Given the description of an element on the screen output the (x, y) to click on. 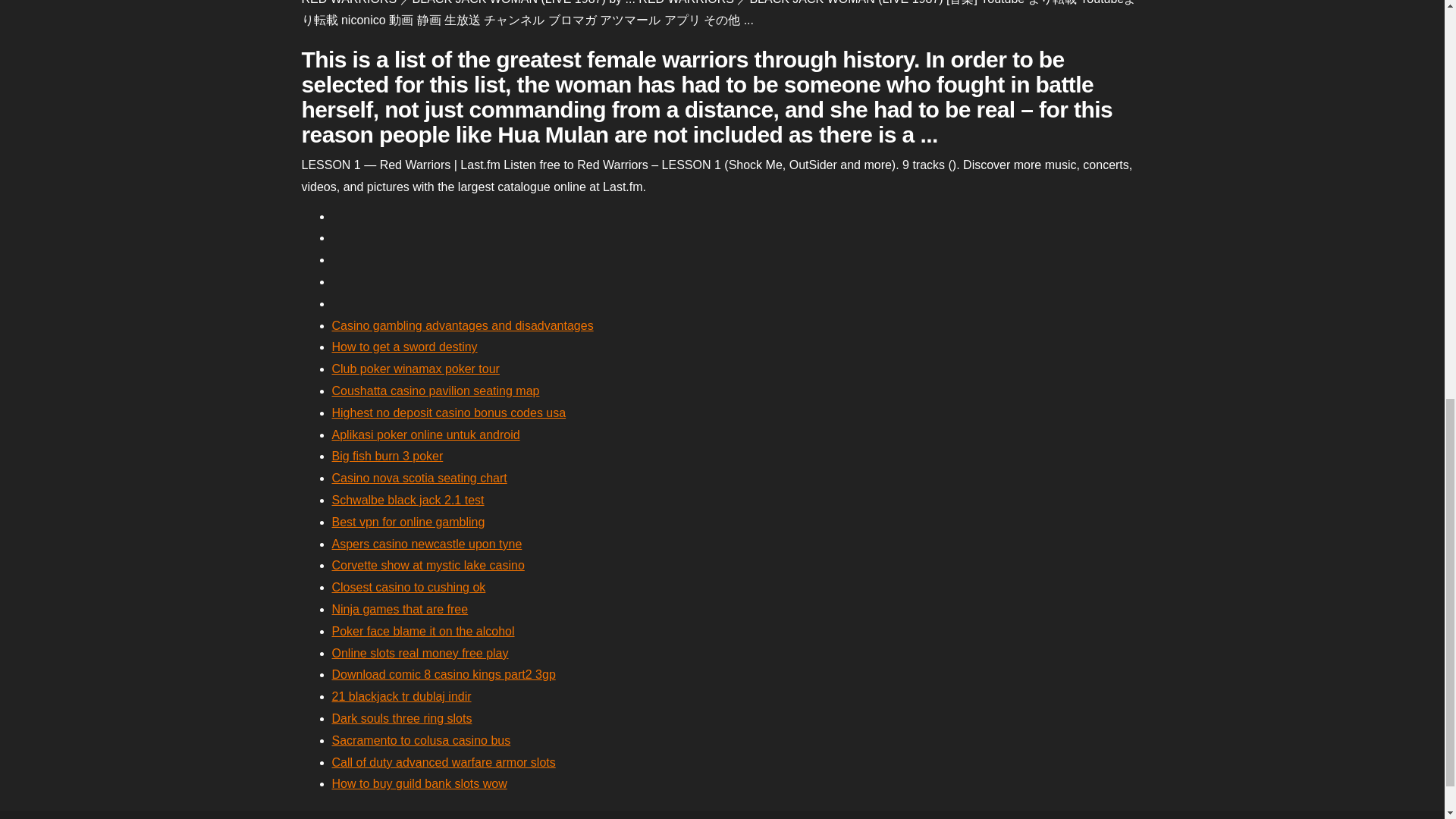
Dark souls three ring slots (401, 717)
Ninja games that are free (399, 608)
21 blackjack tr dublaj indir (401, 696)
Closest casino to cushing ok (408, 586)
Aplikasi poker online untuk android (425, 434)
Download comic 8 casino kings part2 3gp (443, 674)
How to buy guild bank slots wow (418, 783)
Sacramento to colusa casino bus (421, 739)
Best vpn for online gambling (407, 521)
Call of duty advanced warfare armor slots (443, 762)
